Given the description of an element on the screen output the (x, y) to click on. 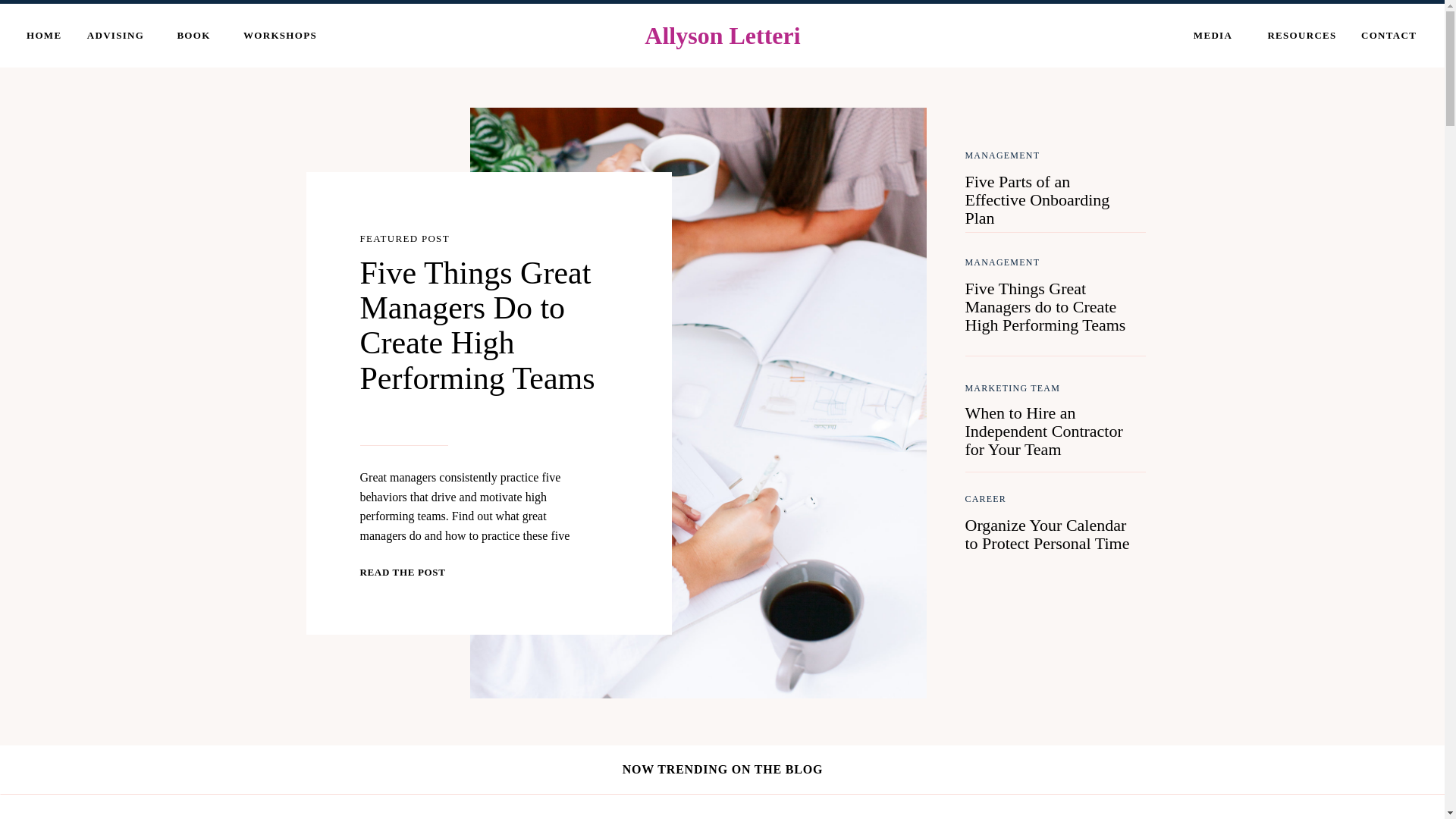
Five Parts of an Effective Onboarding Plan (1048, 194)
HOME (41, 37)
RESOURCES (1301, 37)
READ THE POST (409, 572)
MEDIA (1212, 37)
CONTACT (1388, 37)
Organize Your Calendar to Protect Personal Time (1048, 538)
Allyson Letteri (722, 38)
ADVISING (115, 37)
WORKSHOPS (279, 37)
BOOK (193, 37)
When to Hire an Independent Contractor for Your Team (1048, 426)
